Given the description of an element on the screen output the (x, y) to click on. 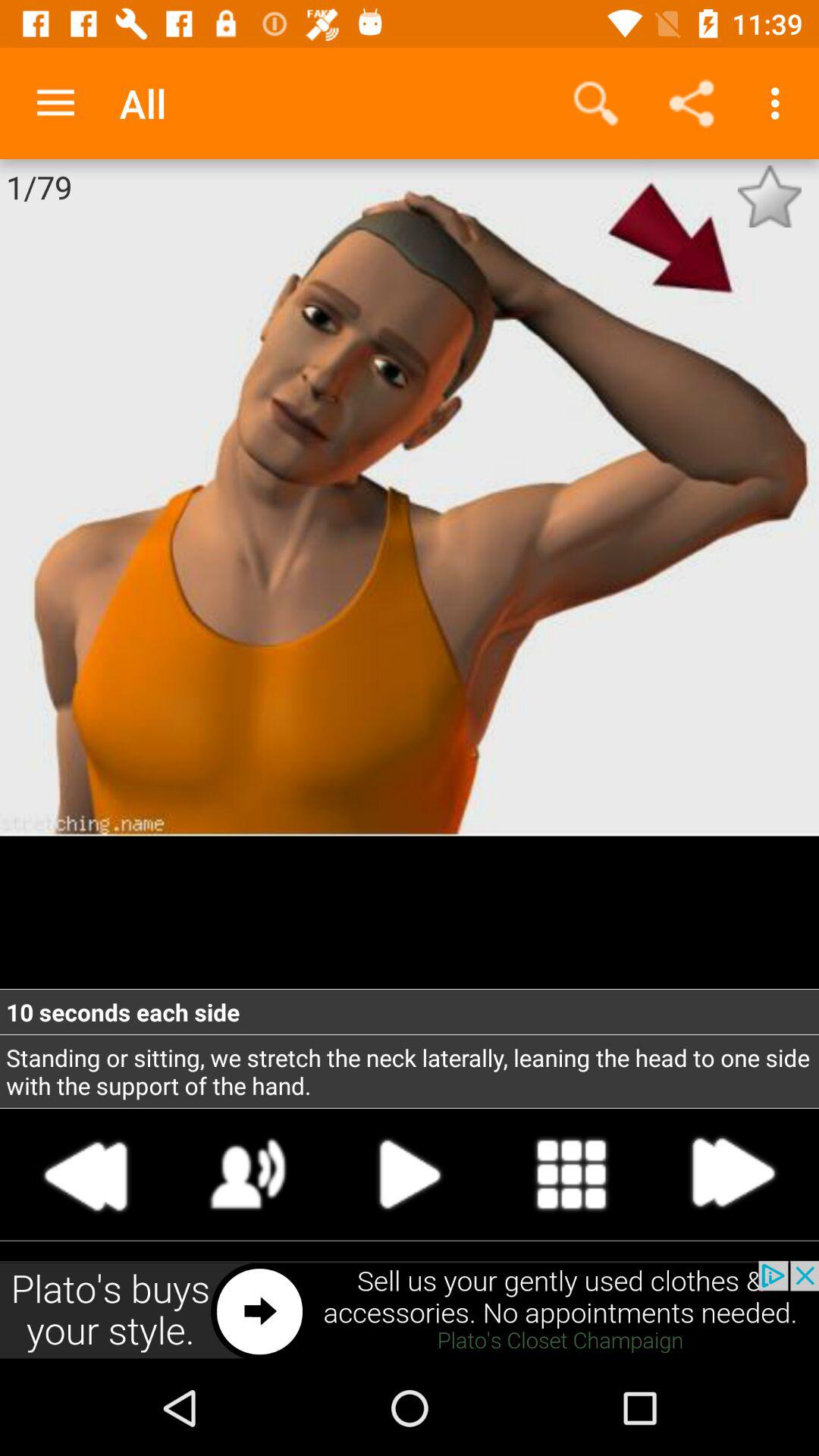
go to previous (86, 1174)
